Given the description of an element on the screen output the (x, y) to click on. 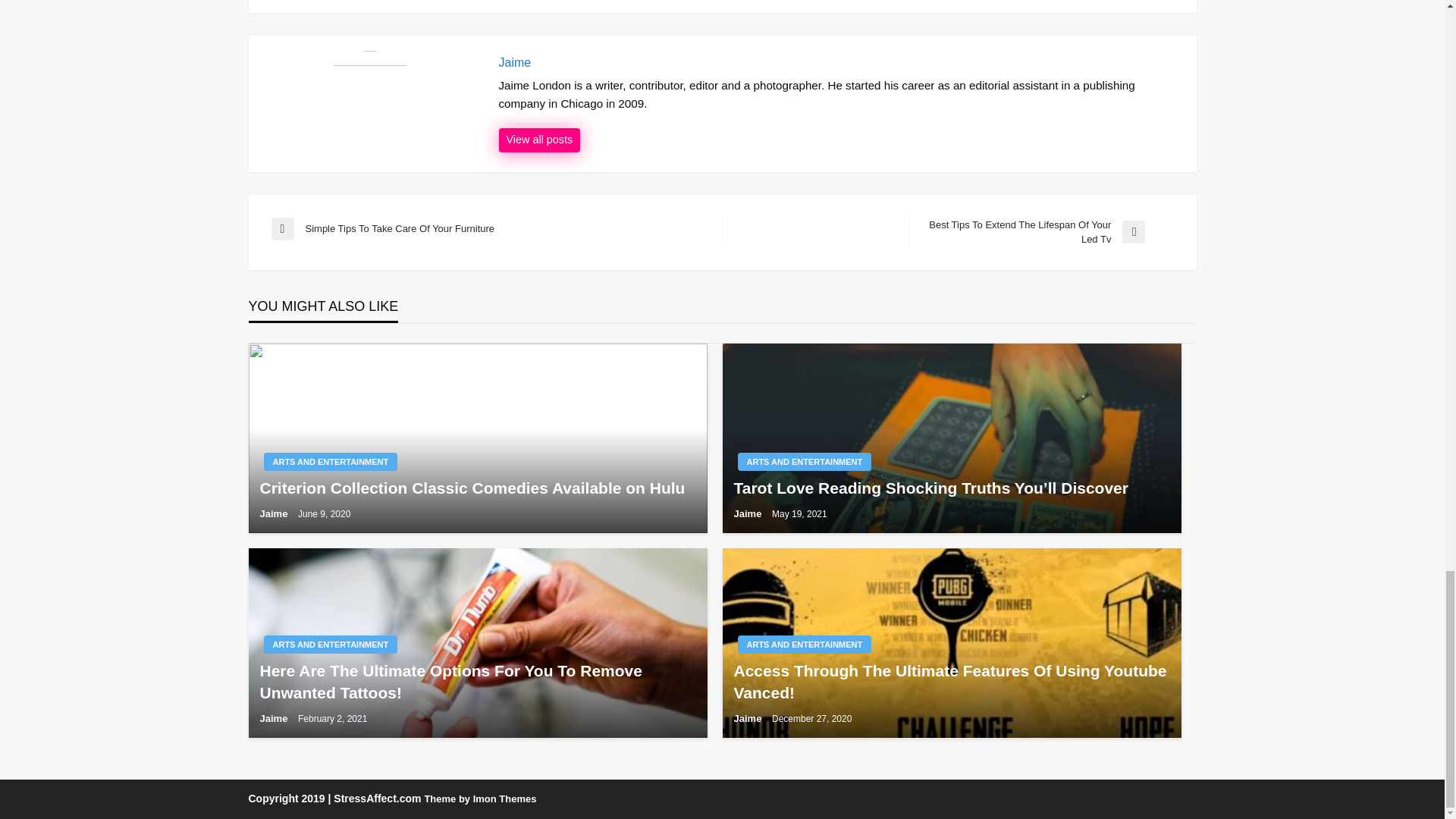
Jaime (1040, 232)
Jaime (839, 62)
View all posts (496, 228)
Jaime (539, 139)
